Given the description of an element on the screen output the (x, y) to click on. 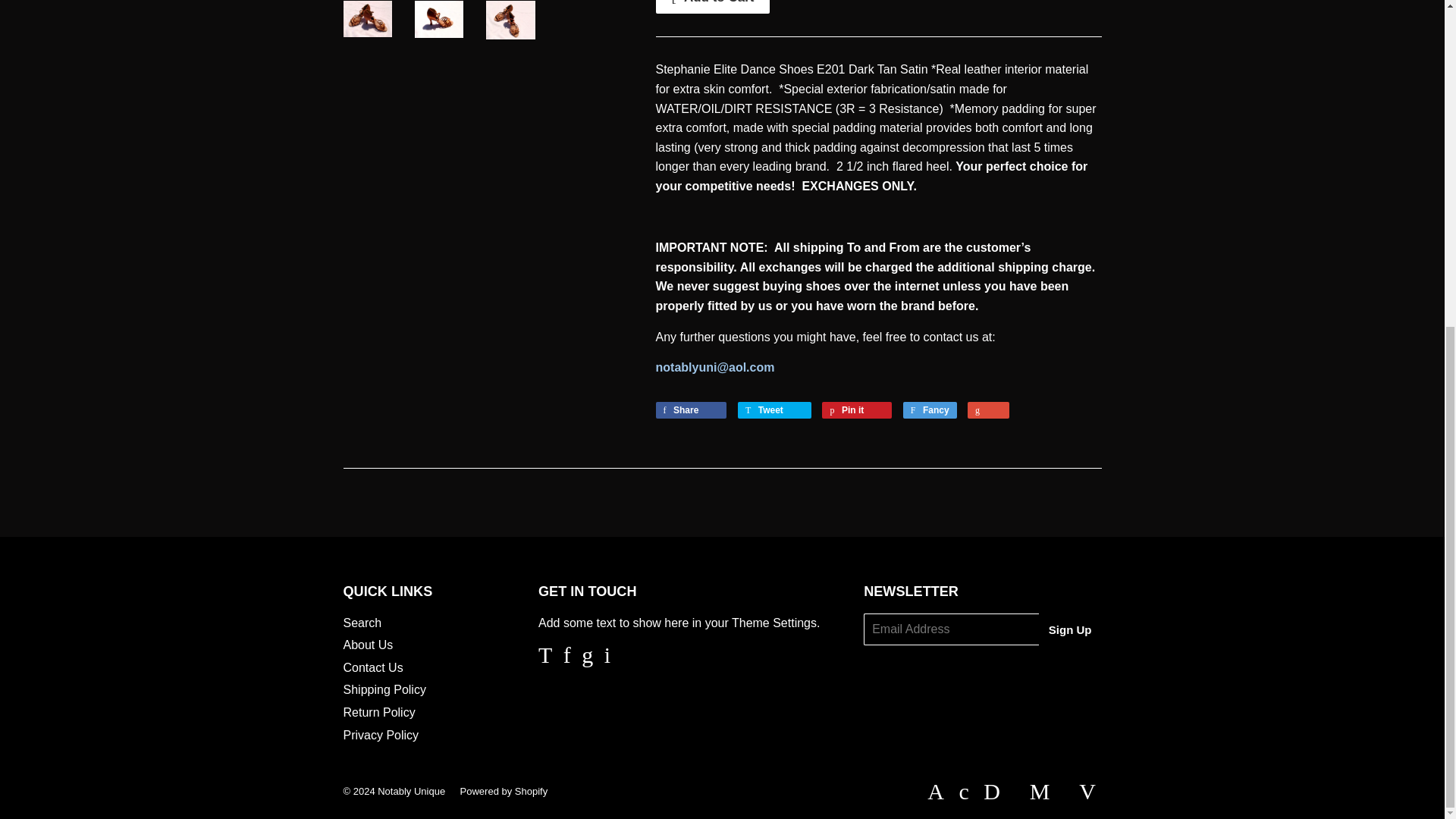
Contact Us (372, 667)
Pin it (856, 410)
Theme Settings (774, 622)
About Us (367, 644)
Shipping Policy (383, 689)
Notably Unique on Twitter (544, 658)
Twitter (544, 658)
Fancy (929, 410)
Sign Up (1070, 629)
Privacy Policy (380, 735)
Search (361, 622)
Share (690, 410)
Return Policy (378, 712)
Add to Cart (712, 6)
Tweet (774, 410)
